Given the description of an element on the screen output the (x, y) to click on. 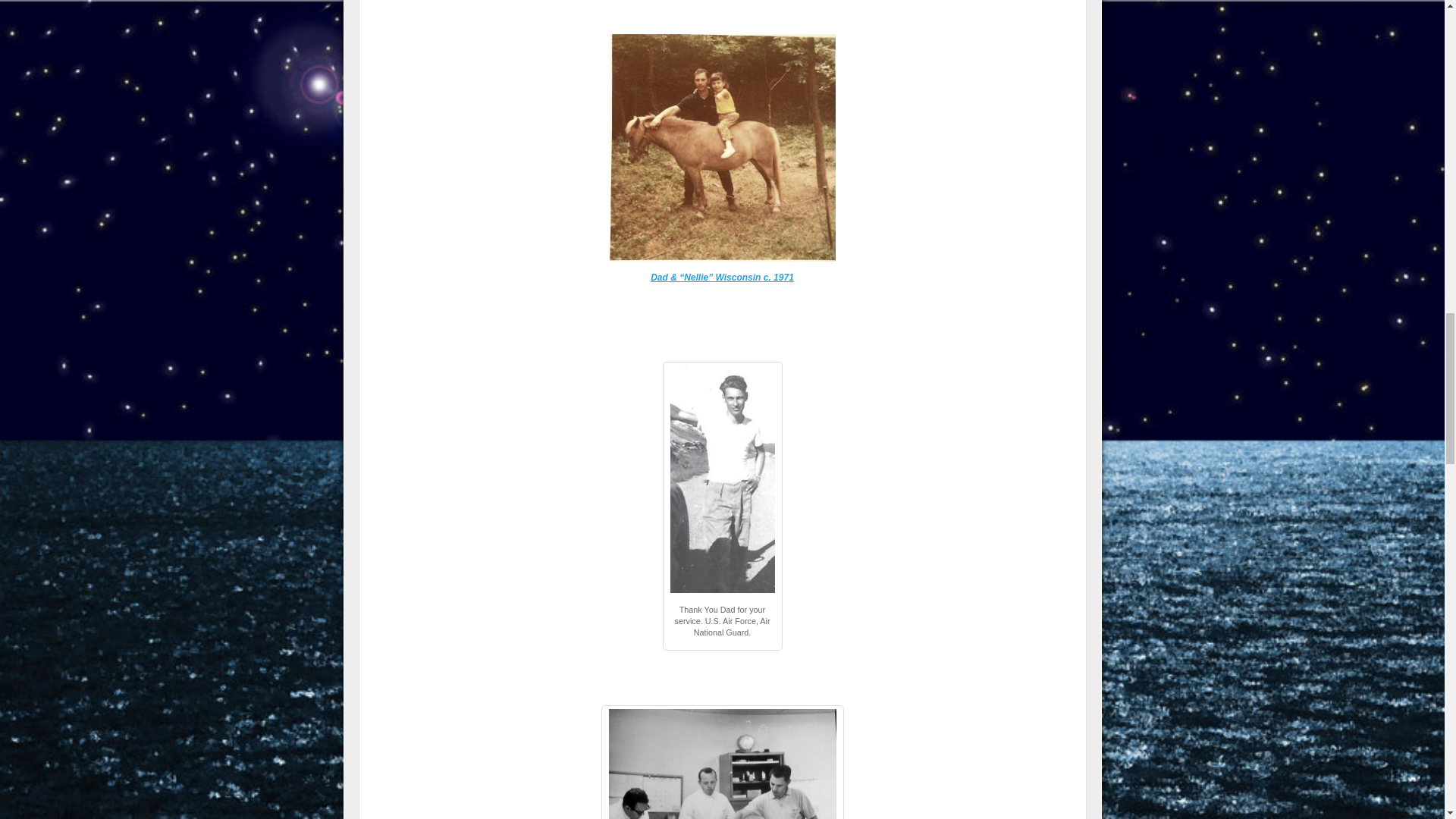
Dad at work taking measurements on blueprints. (721, 764)
